Given the description of an element on the screen output the (x, y) to click on. 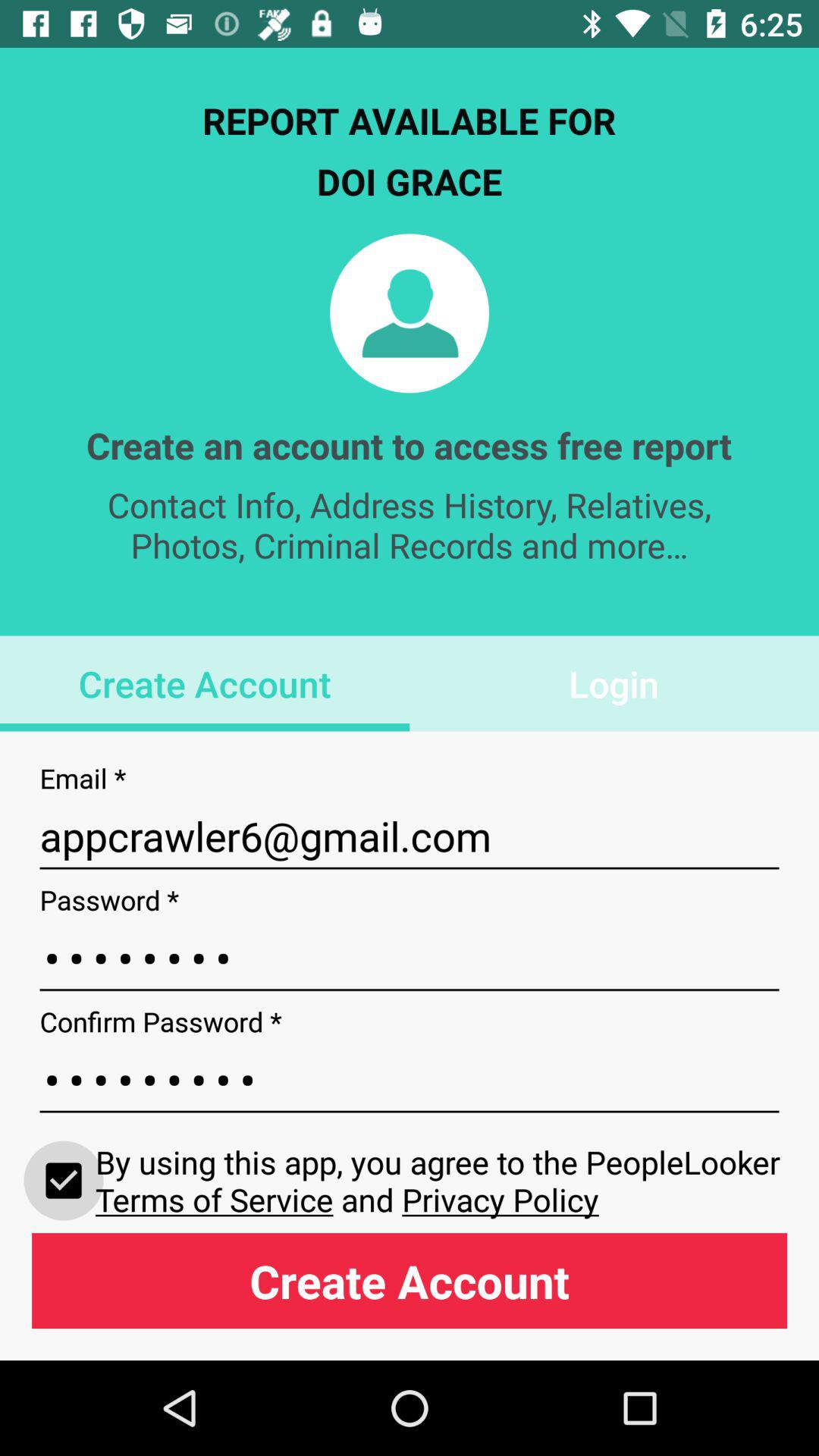
open the icon below crowd3116 item (63, 1180)
